Given the description of an element on the screen output the (x, y) to click on. 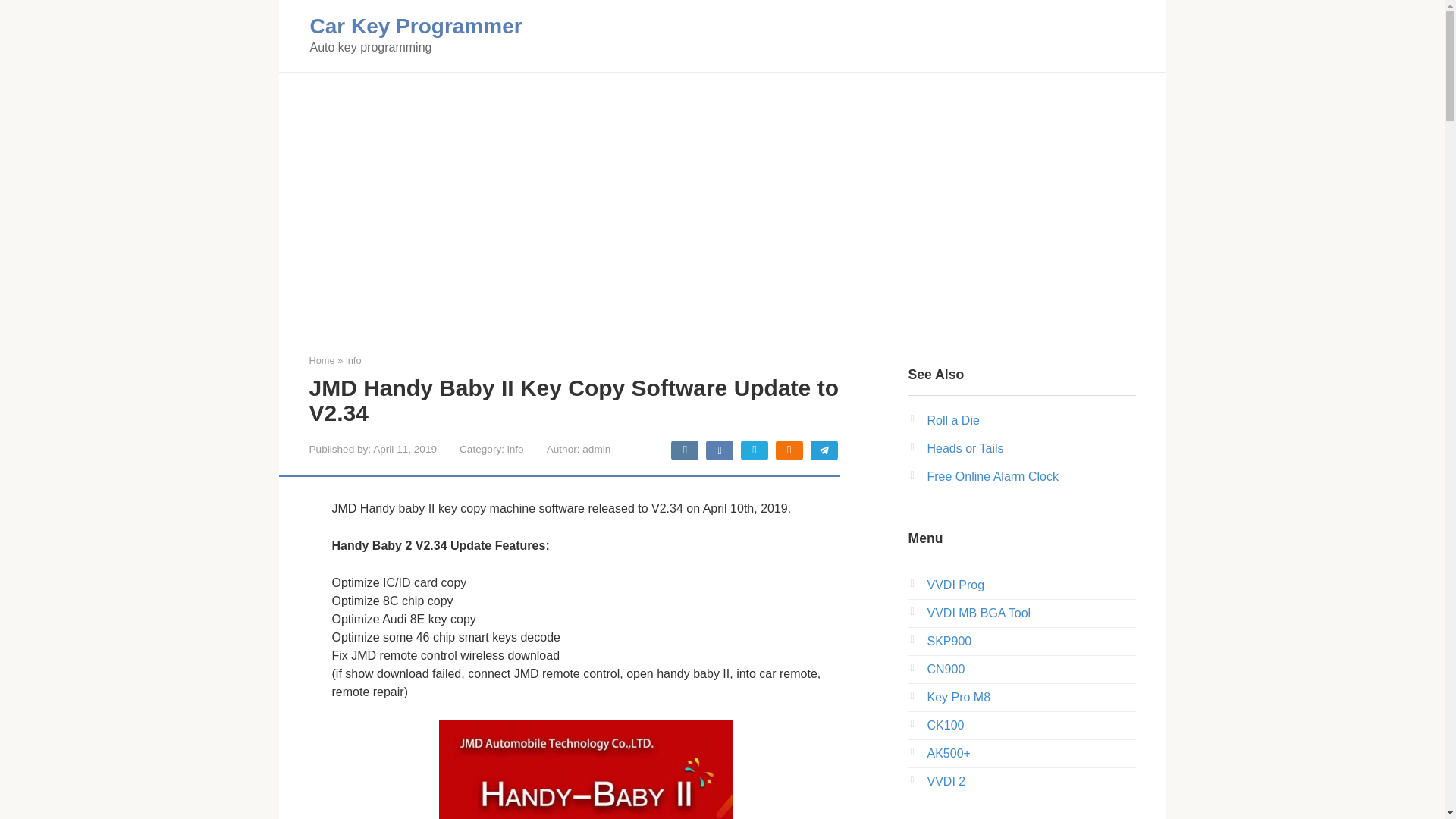
VVDI MB BGA Tool (978, 612)
Key Pro M8 (958, 697)
SKP900 (948, 640)
VVDI 2 (945, 780)
Roll a Die (952, 420)
CN900 (944, 668)
Heads or Tails (964, 448)
info (353, 360)
CK100 (944, 725)
